Given the description of an element on the screen output the (x, y) to click on. 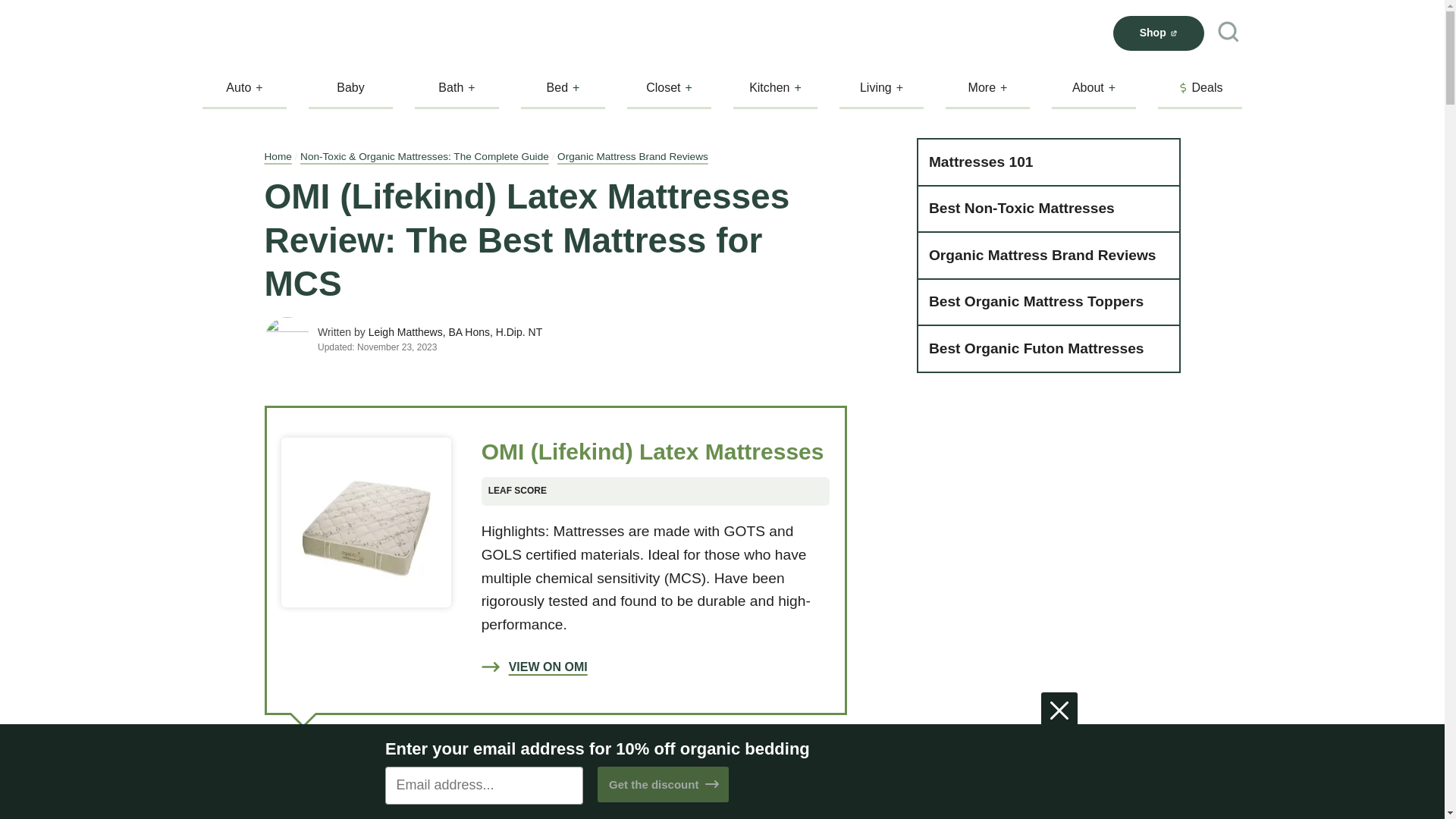
Auto (244, 87)
About (1093, 87)
More (986, 87)
Search (1228, 32)
Deals (1199, 87)
Kitchen (774, 87)
Home (277, 156)
Living (881, 87)
Bath (456, 87)
Get the discount (662, 784)
